Given the description of an element on the screen output the (x, y) to click on. 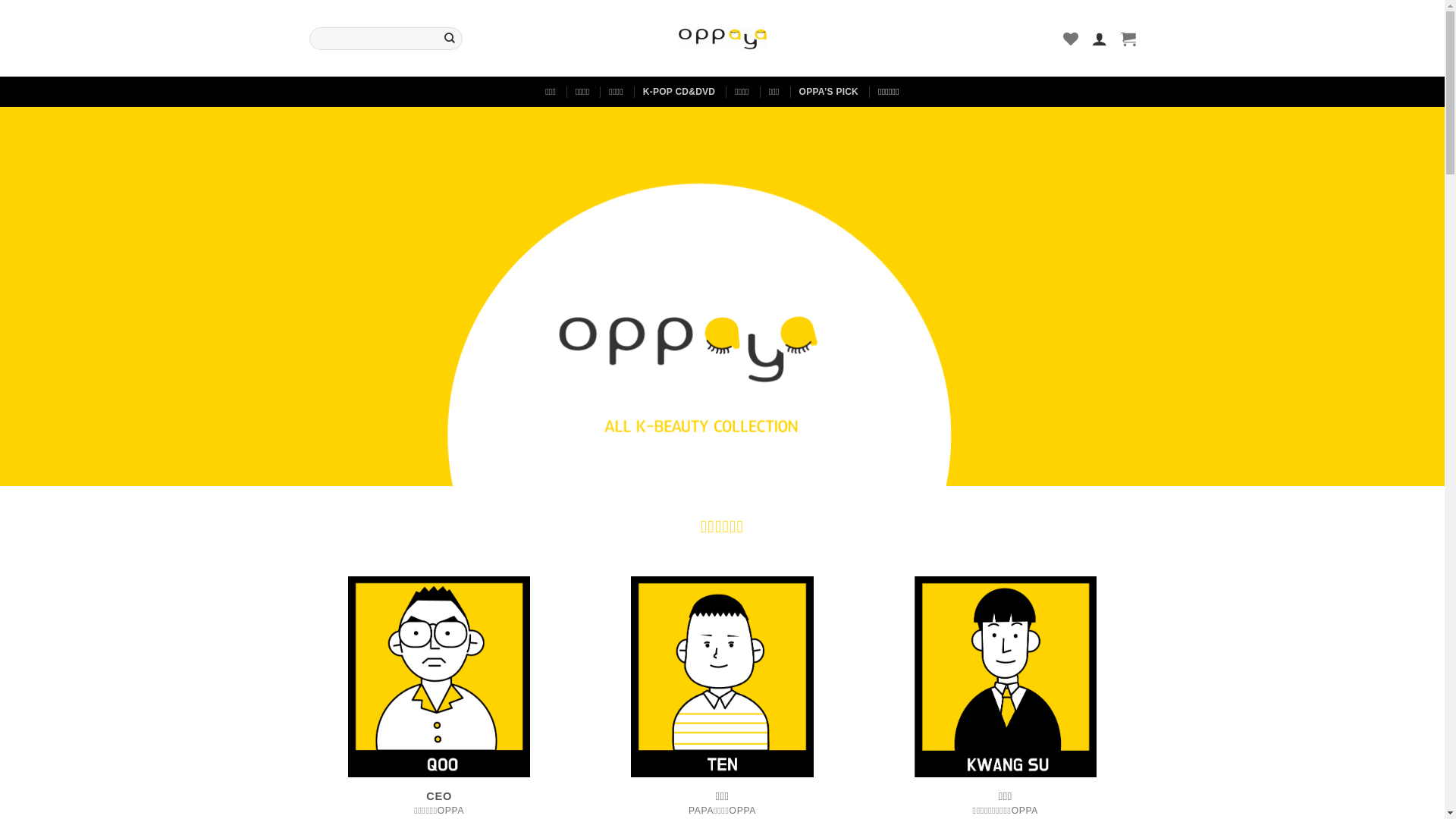
K-POP CD&DVD Element type: text (679, 91)
